Given the description of an element on the screen output the (x, y) to click on. 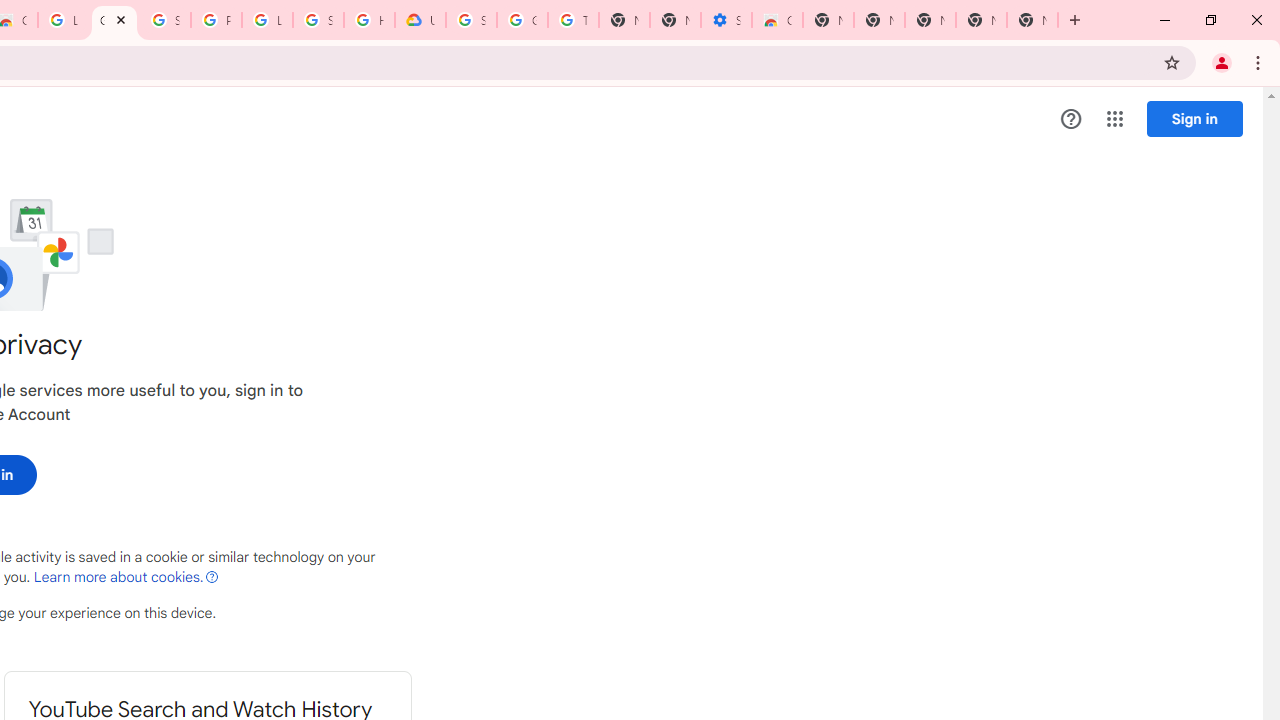
New Tab (1032, 20)
Learn more about cookies (Opens in new tab) (126, 577)
Sign in - Google Accounts (318, 20)
Sign in - Google Accounts (470, 20)
Chrome Web Store - Accessibility extensions (776, 20)
New Tab (827, 20)
Turn cookies on or off - Computer - Google Account Help (573, 20)
